Given the description of an element on the screen output the (x, y) to click on. 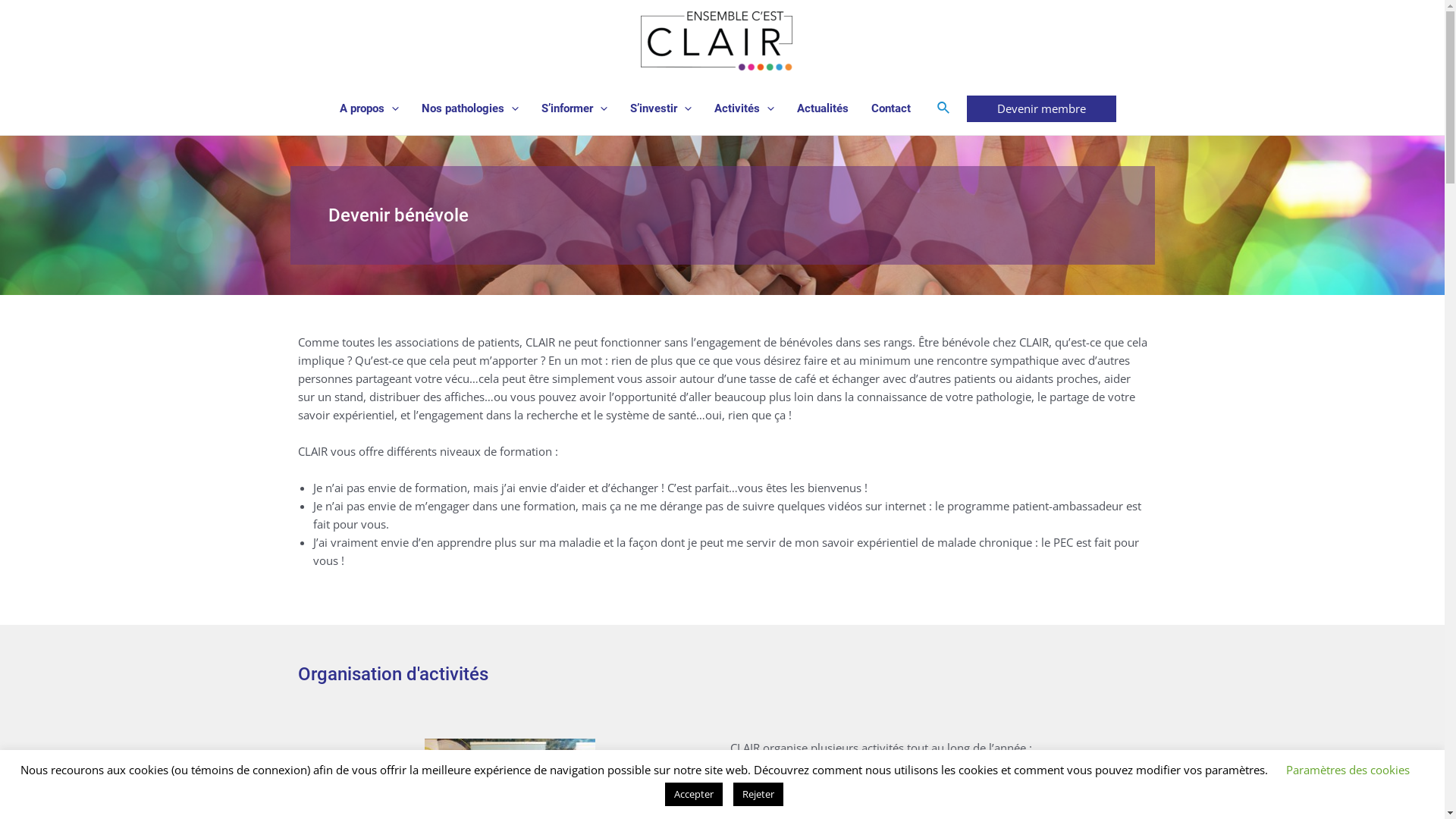
Nos pathologies Element type: text (470, 107)
Devenir membre Element type: text (1041, 108)
A propos Element type: text (369, 107)
Accepter Element type: text (693, 794)
Rechercher Element type: text (943, 108)
Contact Element type: text (890, 107)
Rejeter Element type: text (758, 794)
